Given the description of an element on the screen output the (x, y) to click on. 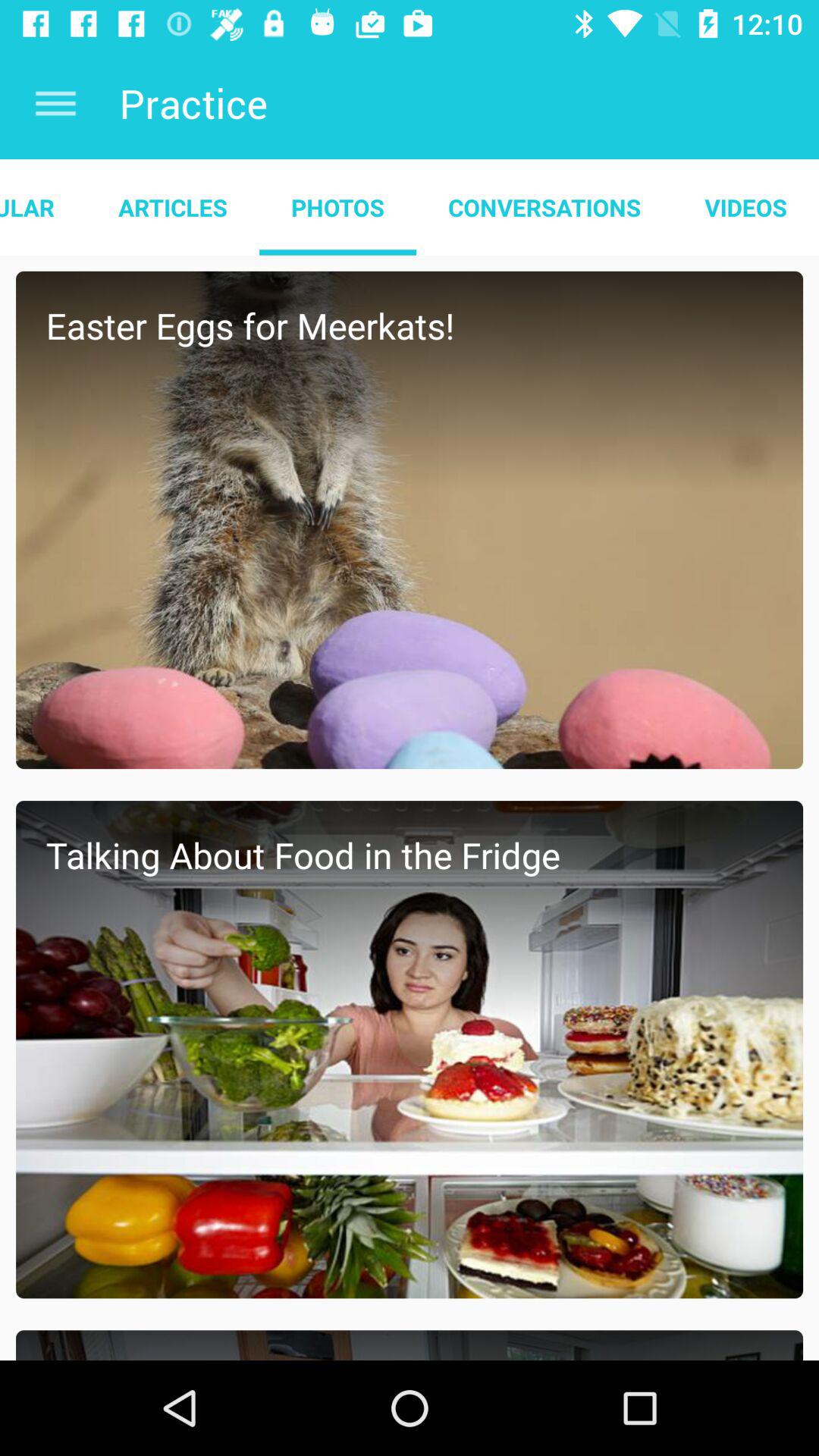
select app next to practice item (55, 103)
